Given the description of an element on the screen output the (x, y) to click on. 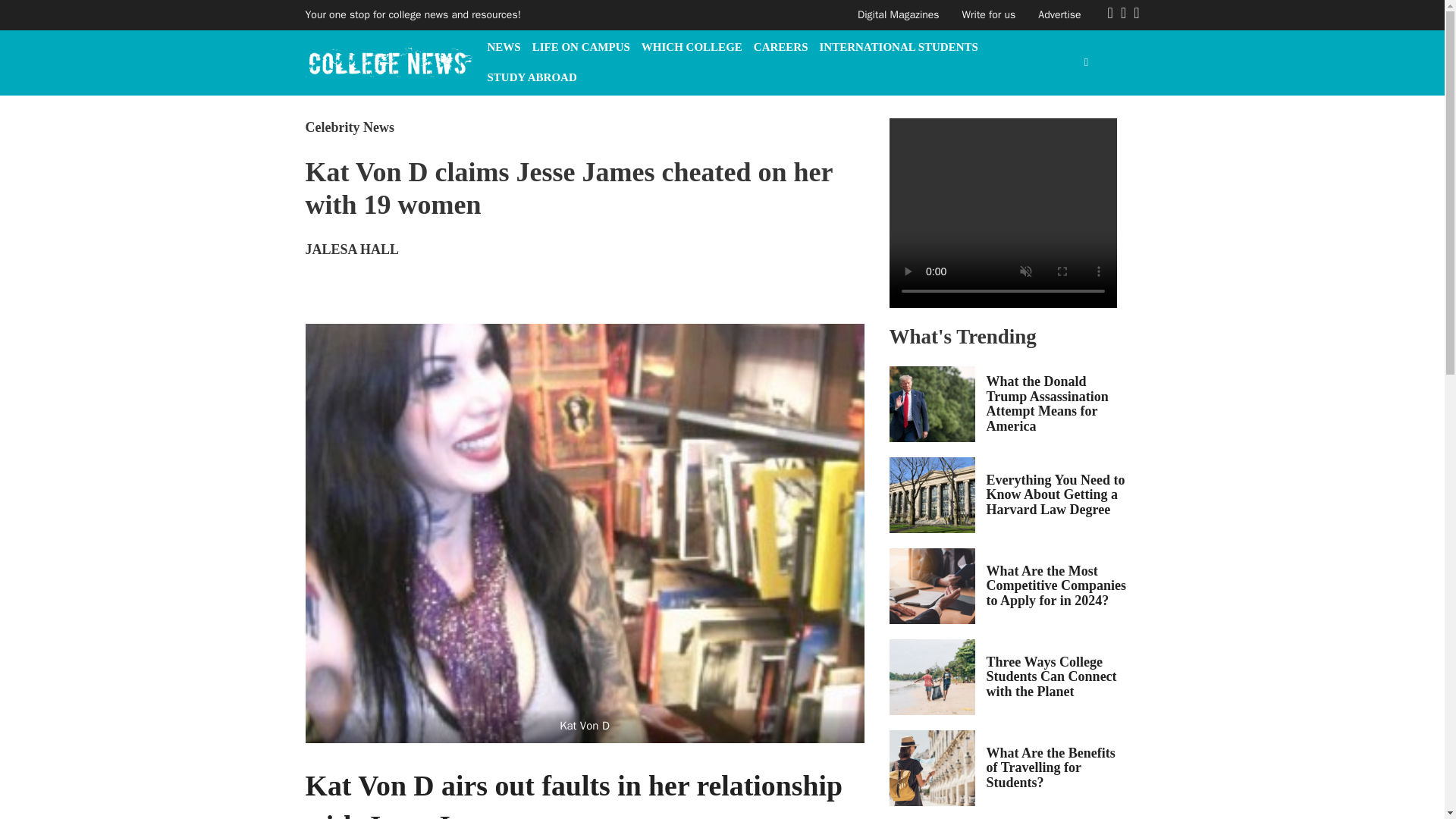
NEWS (502, 47)
Advertisement (1002, 593)
Write for us (989, 14)
Advertise (1059, 14)
Digital Magazines (898, 14)
